Given the description of an element on the screen output the (x, y) to click on. 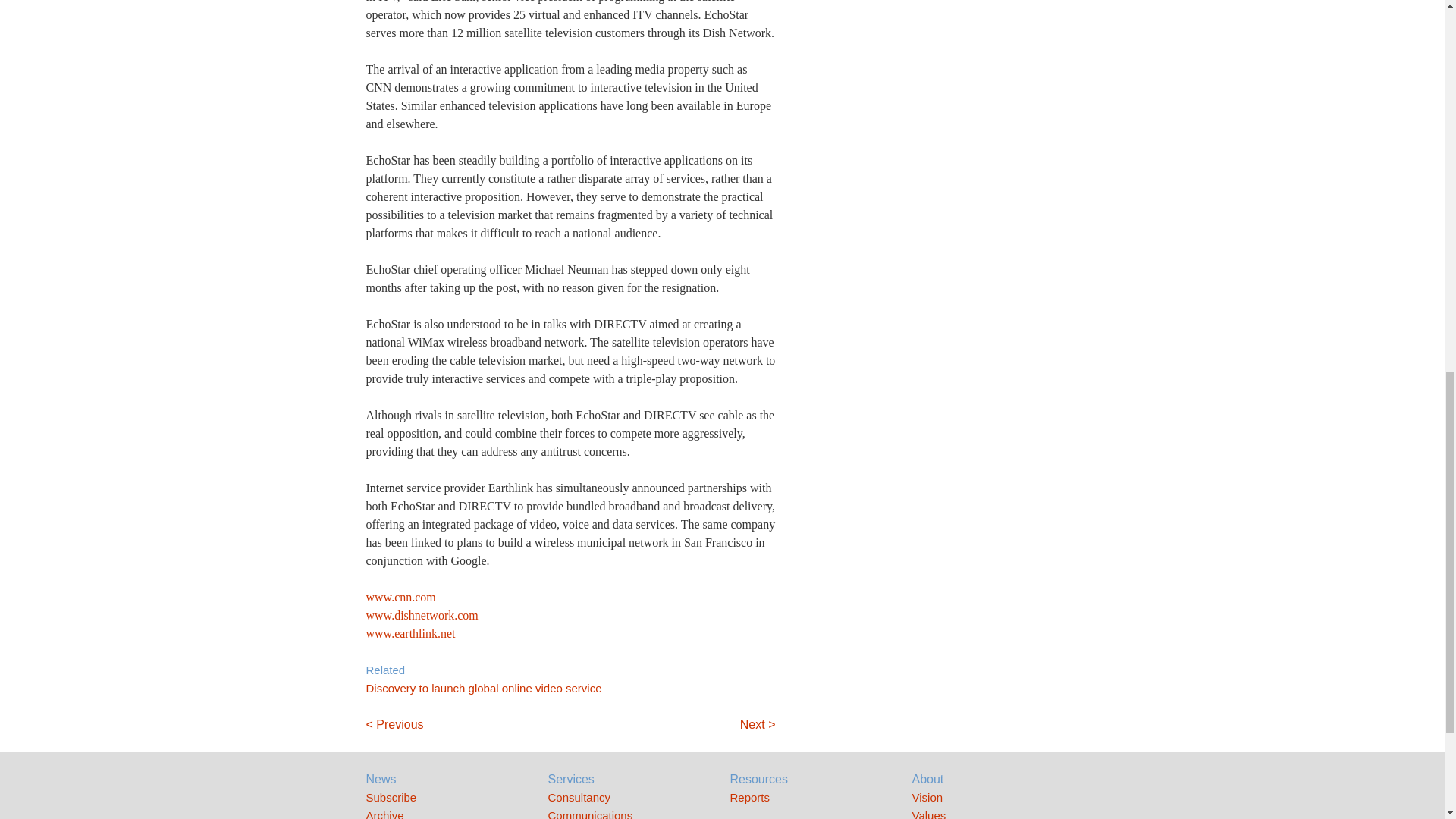
Earthlink web site (409, 633)
Dish Network web site (421, 615)
Subscribe (448, 797)
CNN web site (400, 596)
www.dishnetwork.com (421, 615)
www.cnn.com (400, 596)
www.earthlink.net (409, 633)
Discovery to launch global online video service (569, 688)
